Given the description of an element on the screen output the (x, y) to click on. 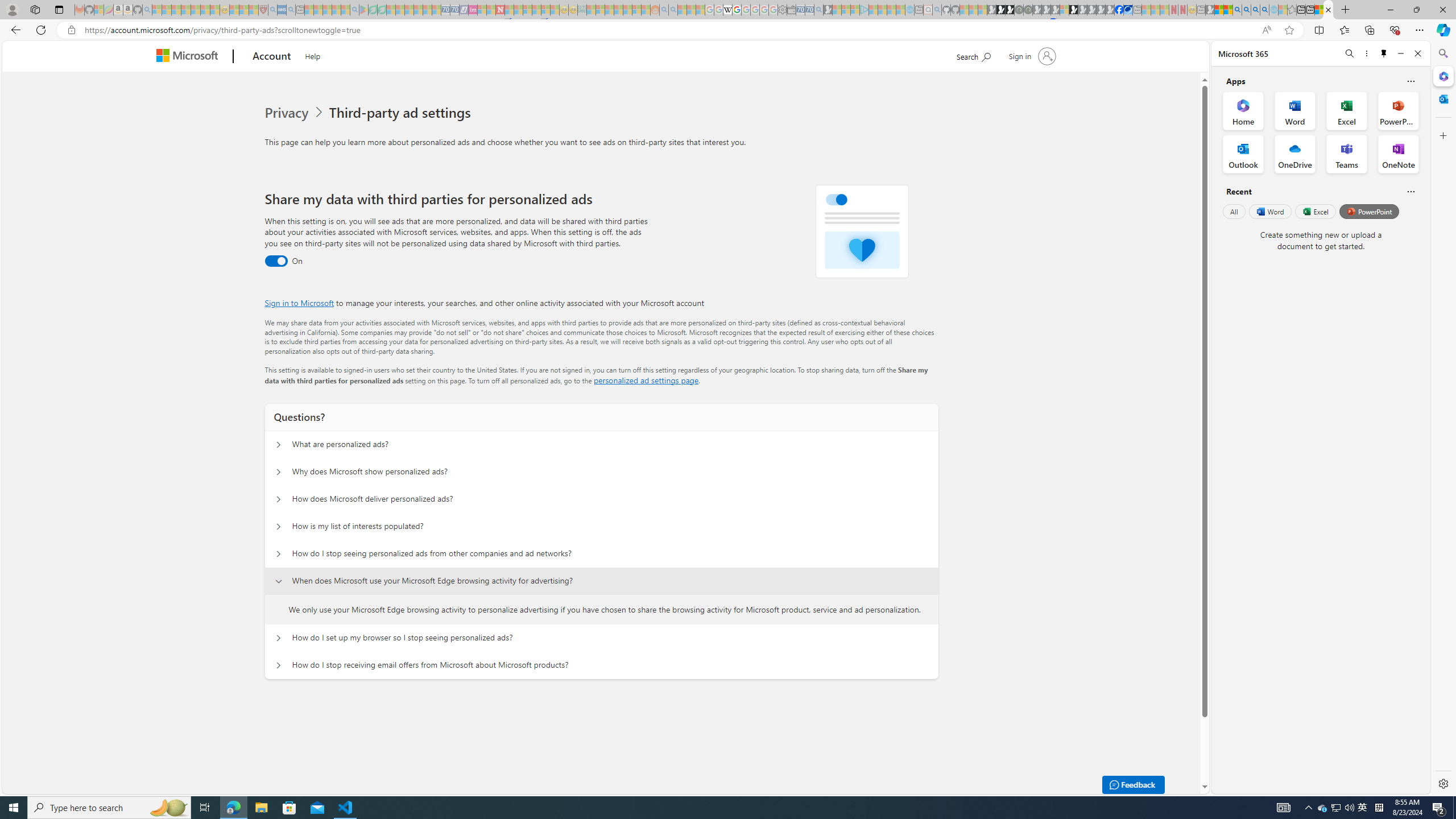
Cheap Hotels - Save70.com - Sleeping (454, 9)
Unpin side pane (1383, 53)
Sign in to your account (1031, 55)
Jobs - lastminute.com Investor Portal - Sleeping (472, 9)
utah sues federal government - Search - Sleeping (290, 9)
